Given the description of an element on the screen output the (x, y) to click on. 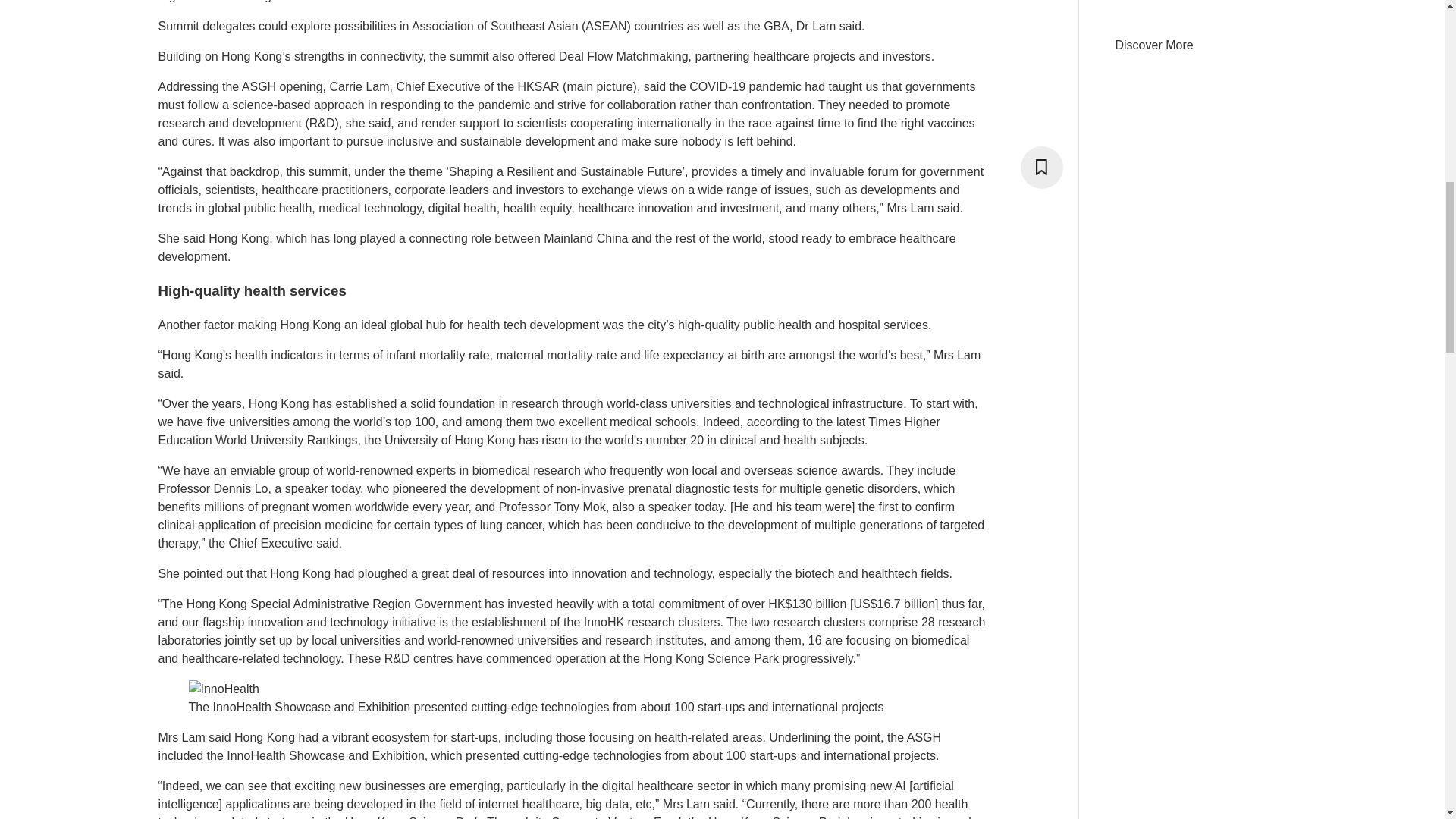
InnoHealth (223, 689)
